Given the description of an element on the screen output the (x, y) to click on. 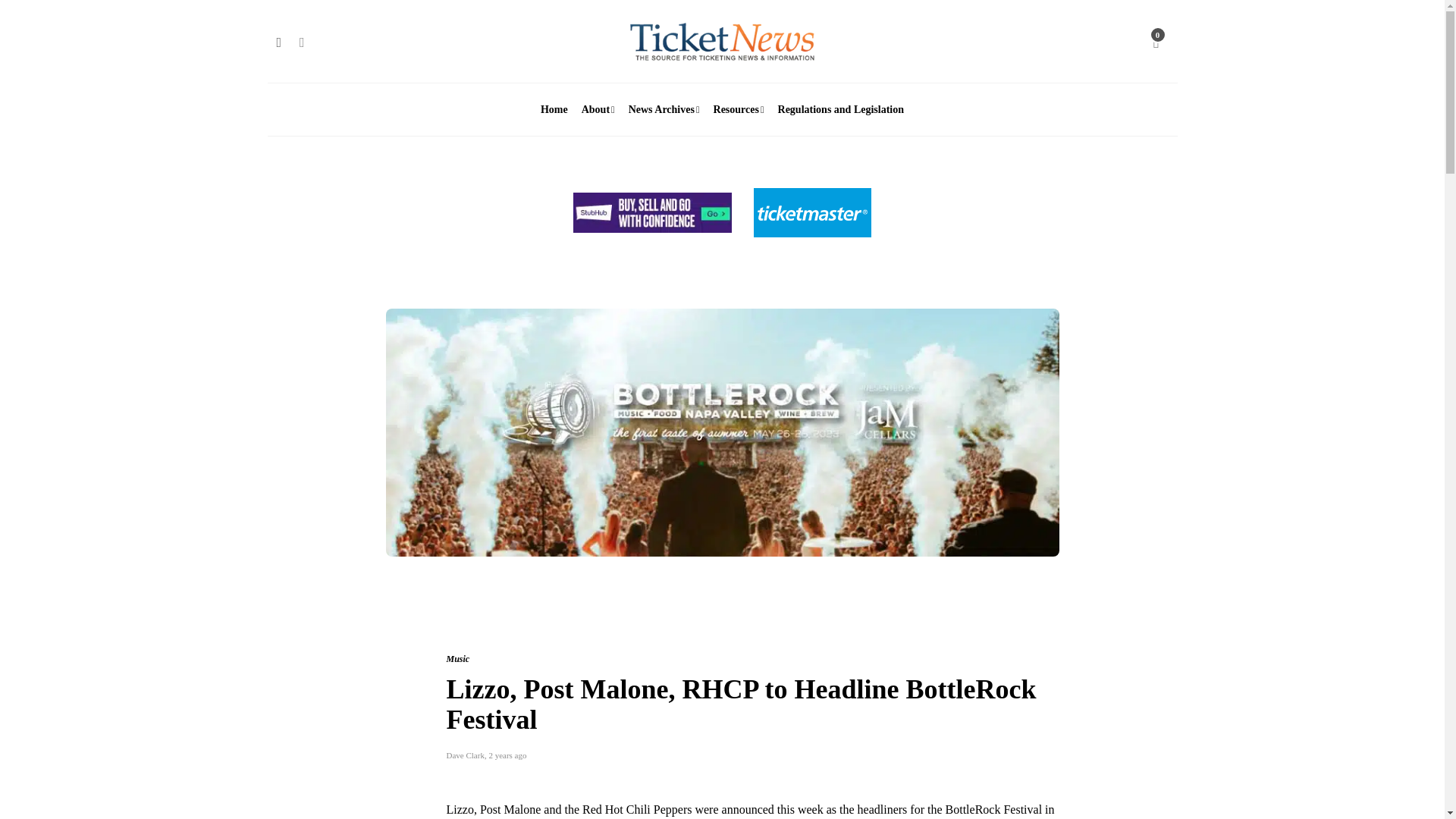
News Archives (664, 109)
